Given the description of an element on the screen output the (x, y) to click on. 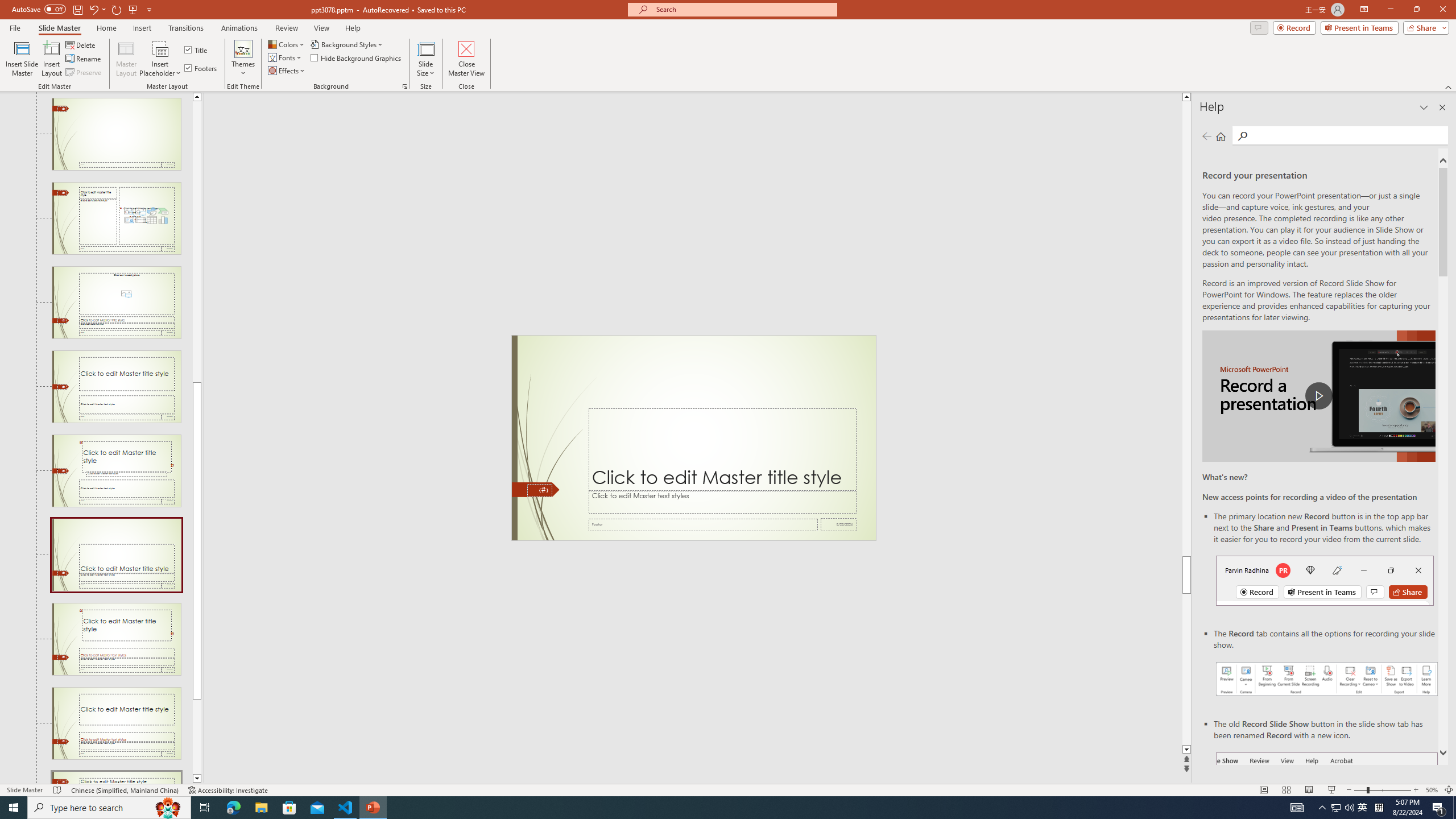
Insert Placeholder (160, 58)
Footers (201, 67)
Slide Content with Caption Layout: used by no slides (116, 217)
